Given the description of an element on the screen output the (x, y) to click on. 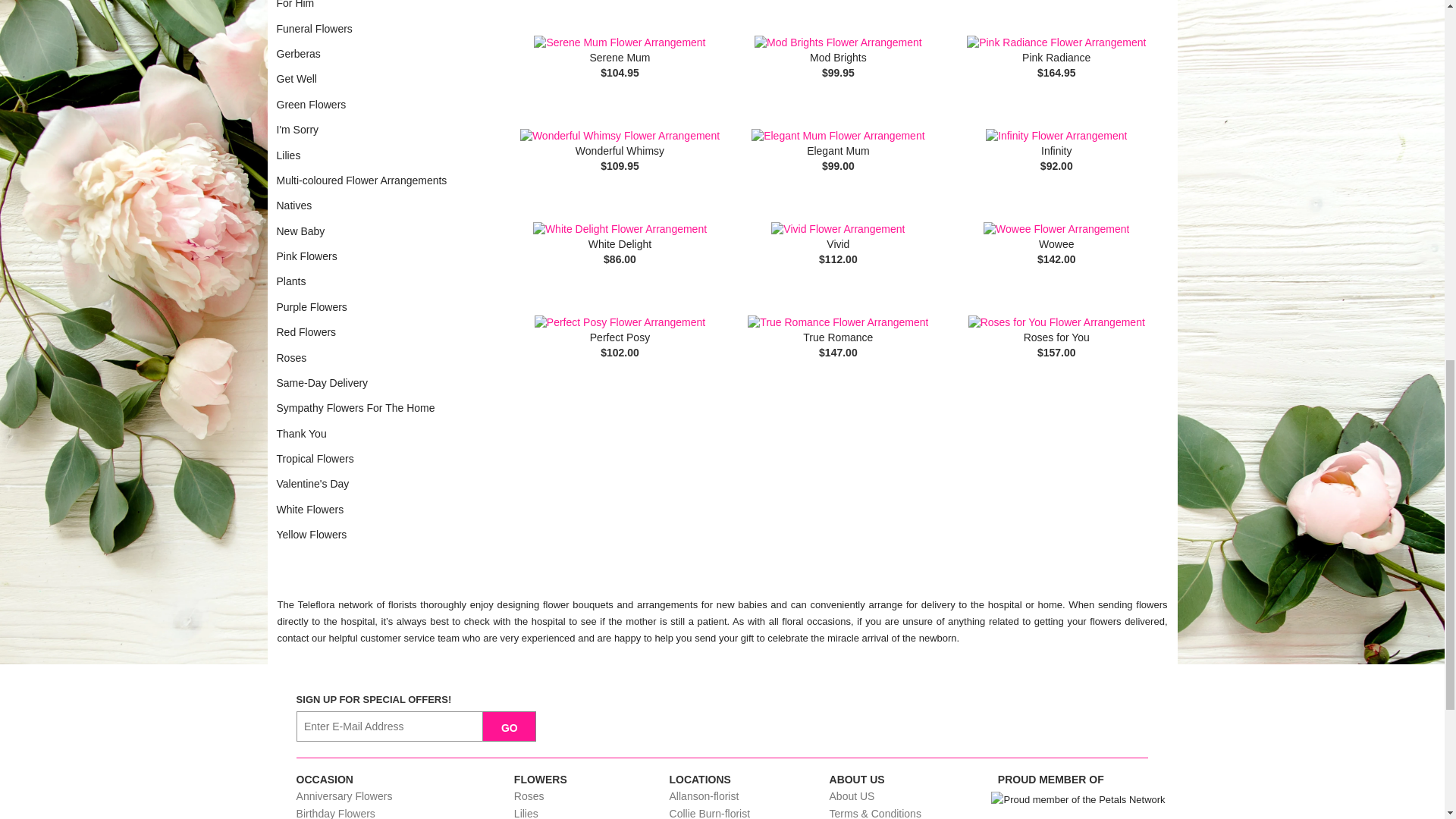
go (509, 726)
Go (509, 726)
Email Sign up (390, 726)
